Given the description of an element on the screen output the (x, y) to click on. 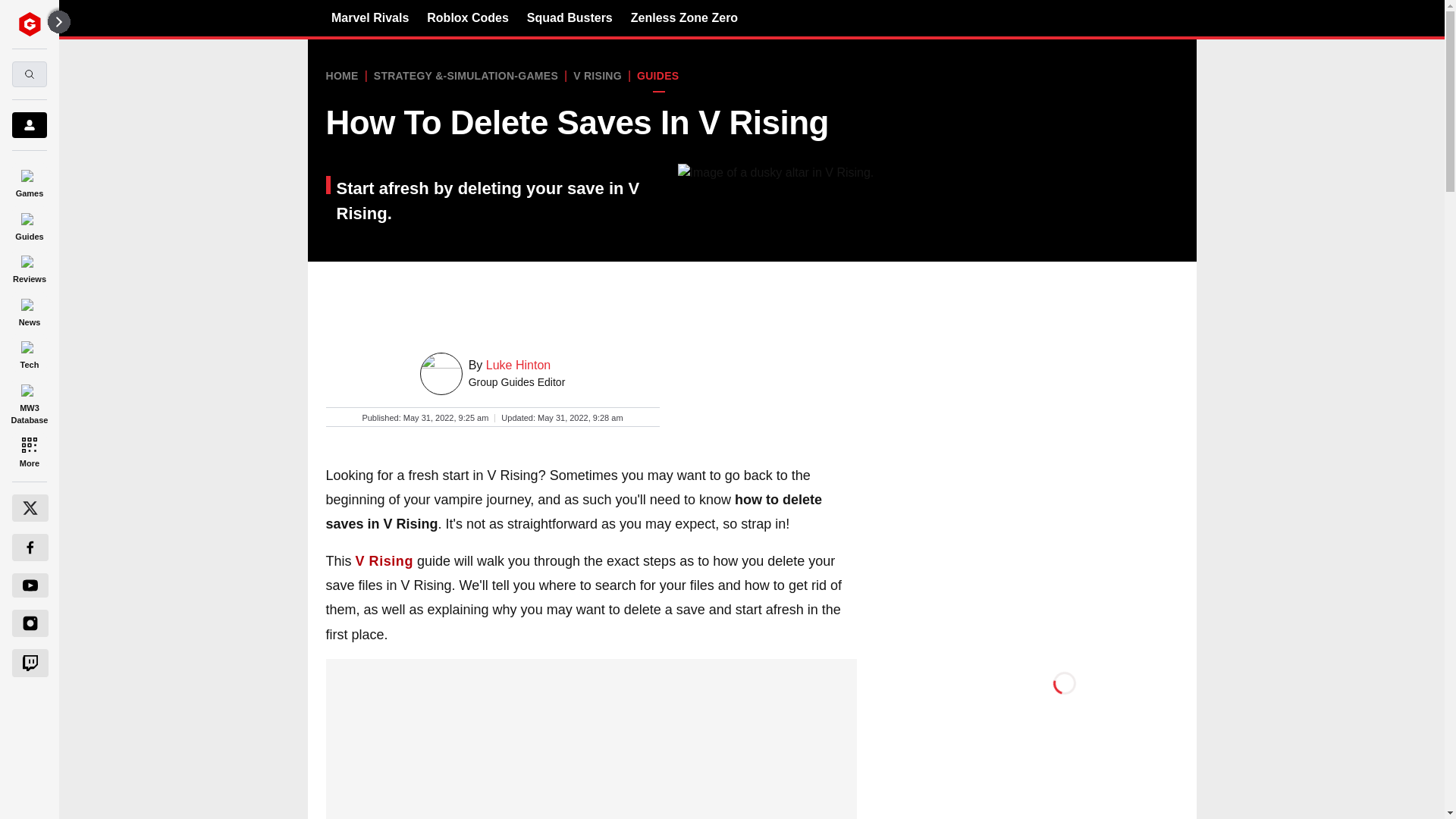
Tech (28, 352)
More (28, 450)
Games (28, 180)
Roblox Codes (467, 18)
Zenless Zone Zero (684, 18)
Marvel Rivals (370, 18)
Guides (28, 224)
Squad Busters (569, 18)
News (28, 309)
Reviews (28, 266)
